Given the description of an element on the screen output the (x, y) to click on. 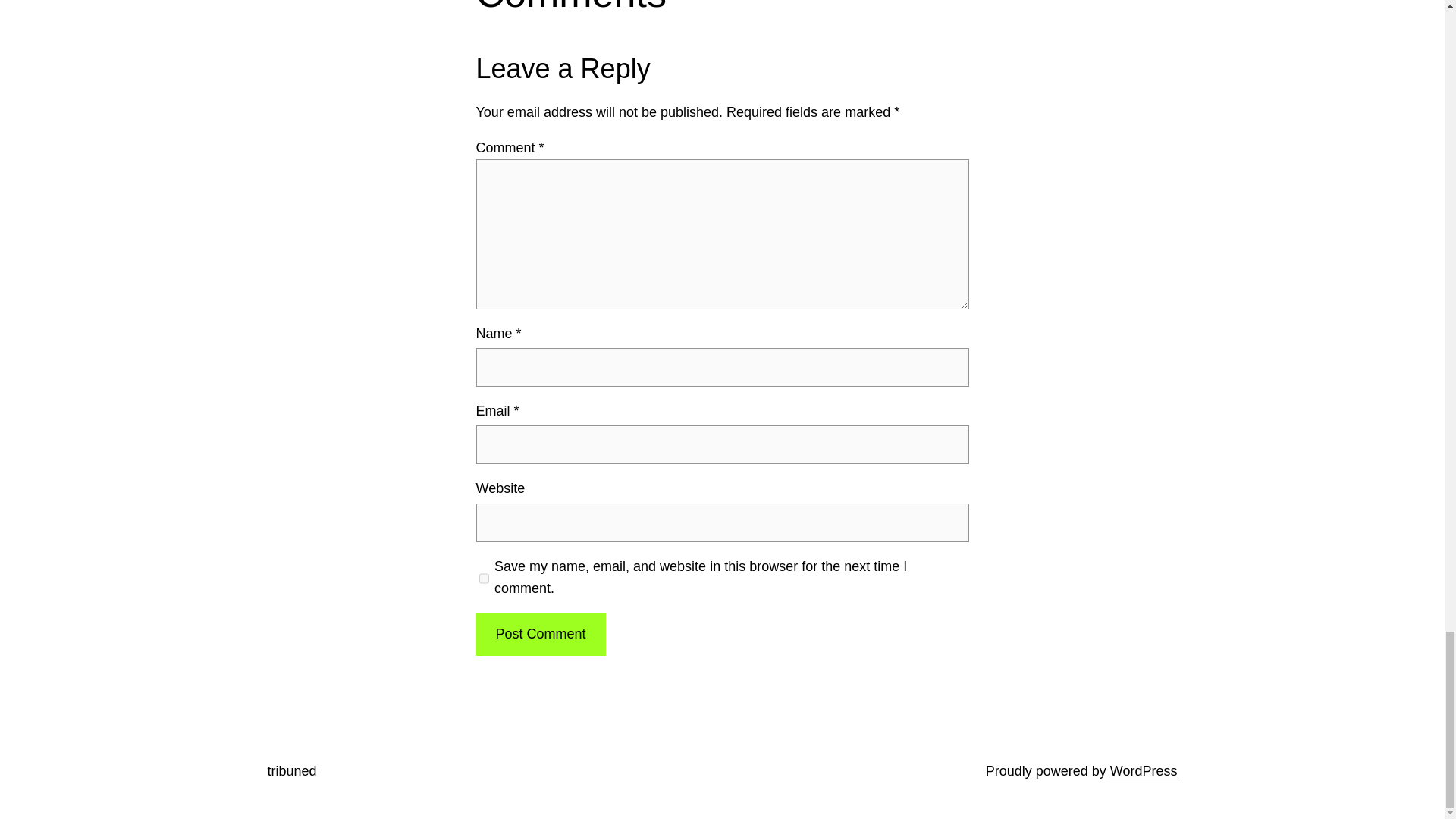
Post Comment (540, 634)
